Given the description of an element on the screen output the (x, y) to click on. 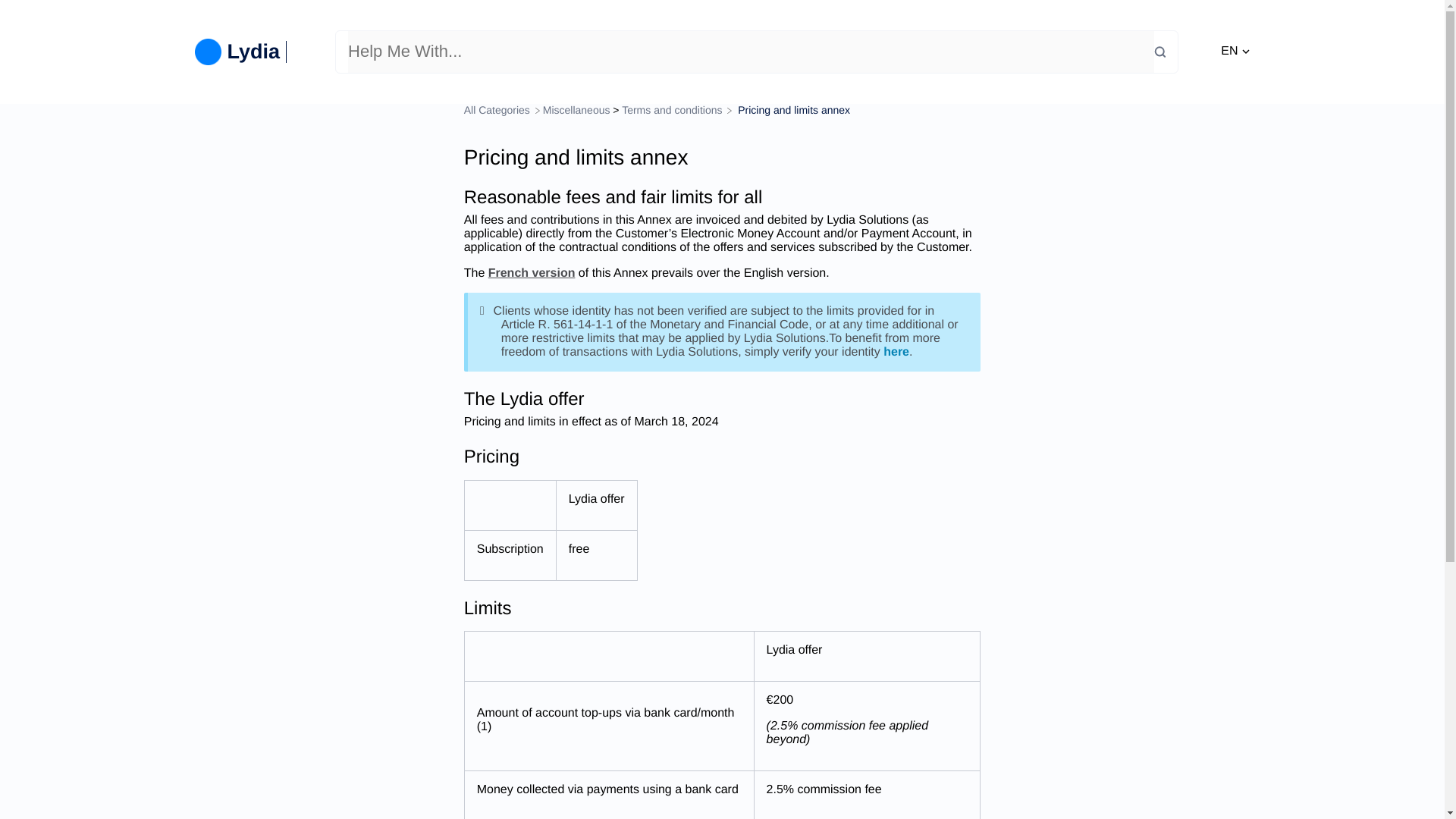
Lydia (242, 51)
EN (1235, 51)
Terms and conditions (673, 110)
French version (531, 273)
All Categories (498, 110)
here (895, 351)
Miscellaneous (576, 110)
